Given the description of an element on the screen output the (x, y) to click on. 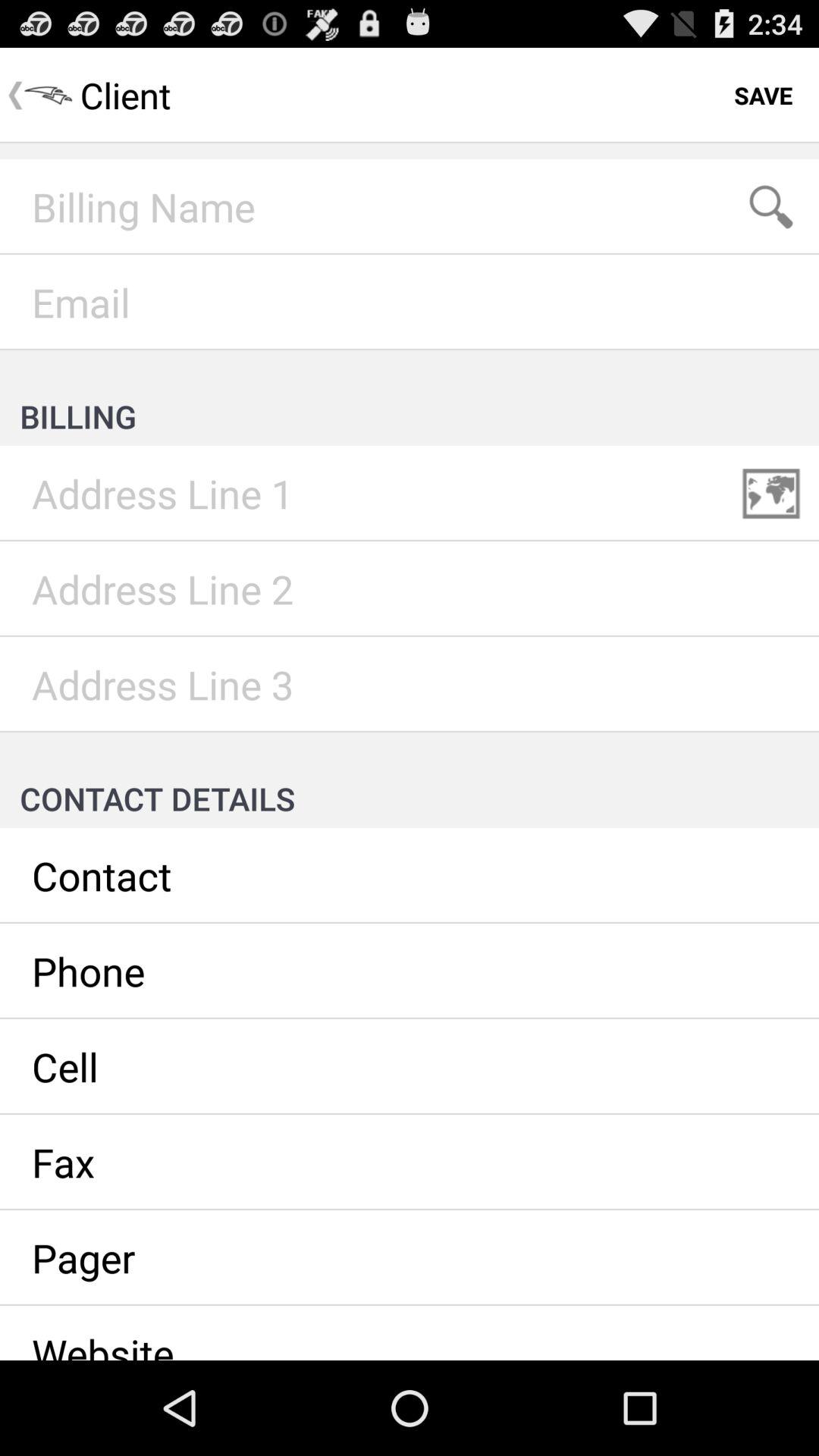
enter email (409, 302)
